Given the description of an element on the screen output the (x, y) to click on. 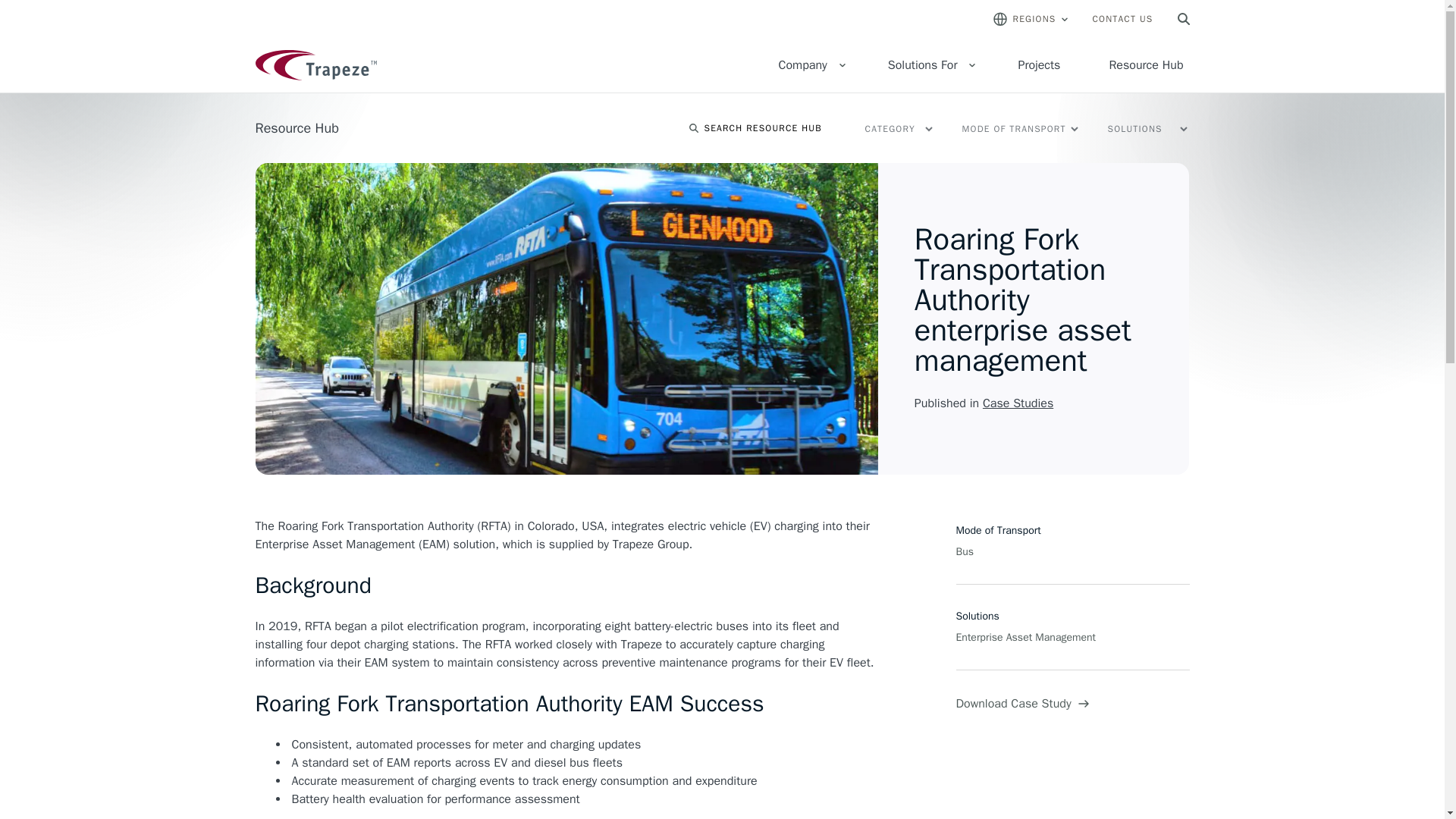
CONTACT US (1122, 18)
REGIONS (1030, 18)
Company (808, 64)
Solutions For (928, 64)
Projects (1038, 64)
Resource Hub (1145, 64)
